Given the description of an element on the screen output the (x, y) to click on. 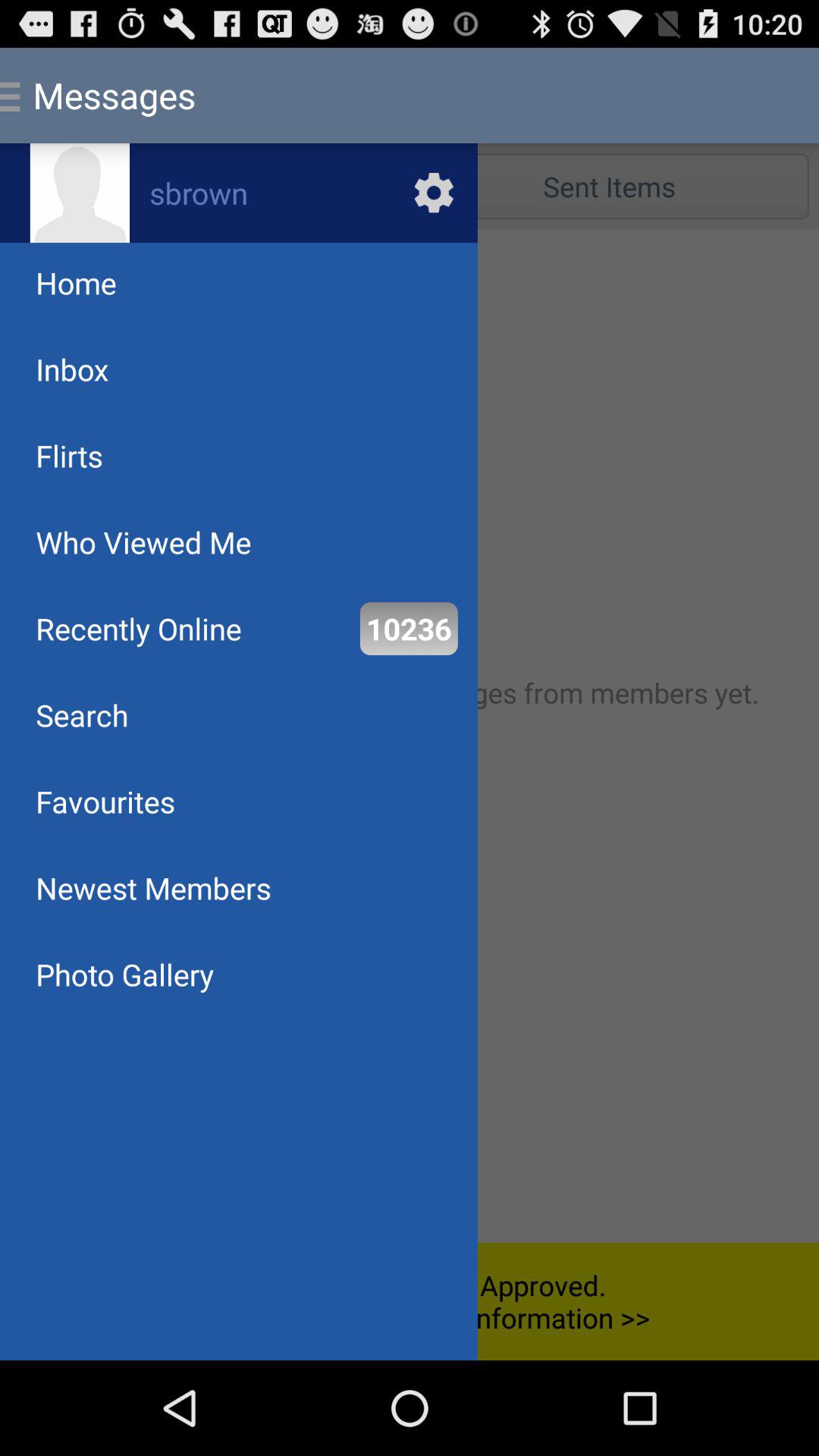
turn on photo gallery icon (124, 974)
